Given the description of an element on the screen output the (x, y) to click on. 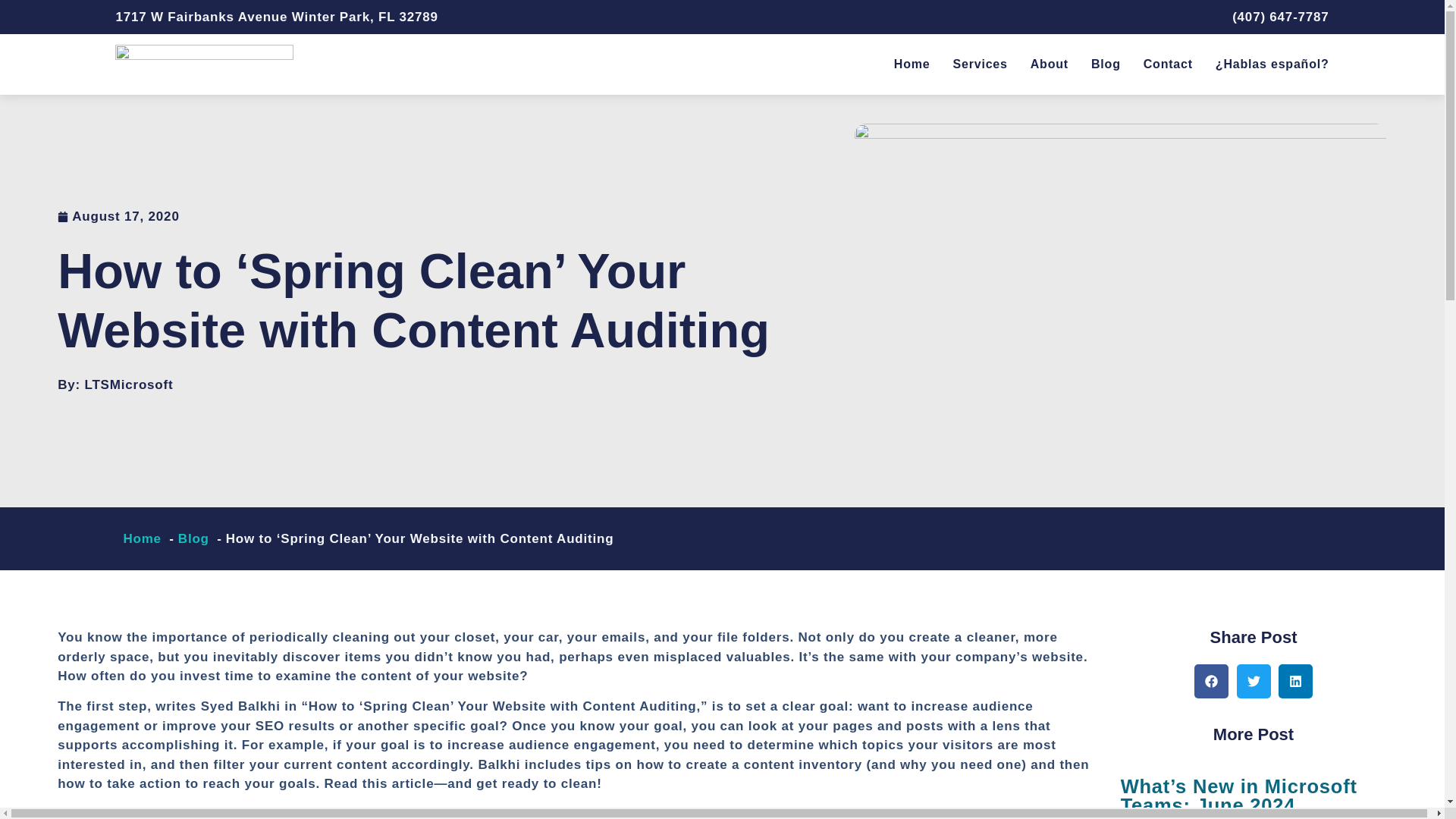
Contact (1167, 64)
Blog (193, 538)
Services (979, 64)
Blog (1105, 64)
About (1049, 64)
Home (911, 64)
Home (141, 538)
